Given the description of an element on the screen output the (x, y) to click on. 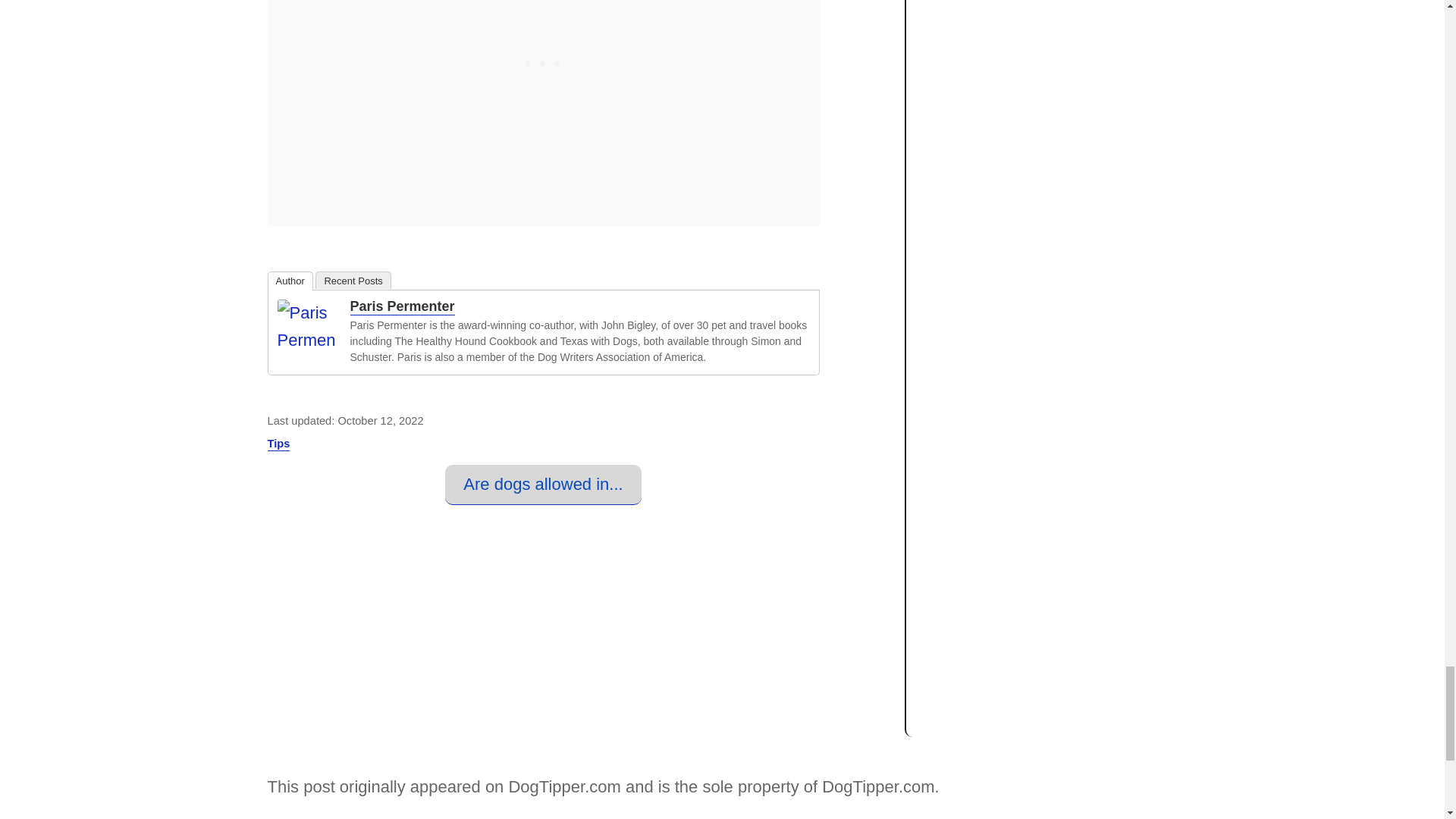
Author (289, 280)
Recent Posts (352, 280)
Paris Permenter (402, 306)
Tips (277, 444)
Paris Permenter (307, 323)
Are dogs allowed in... (542, 485)
